Given the description of an element on the screen output the (x, y) to click on. 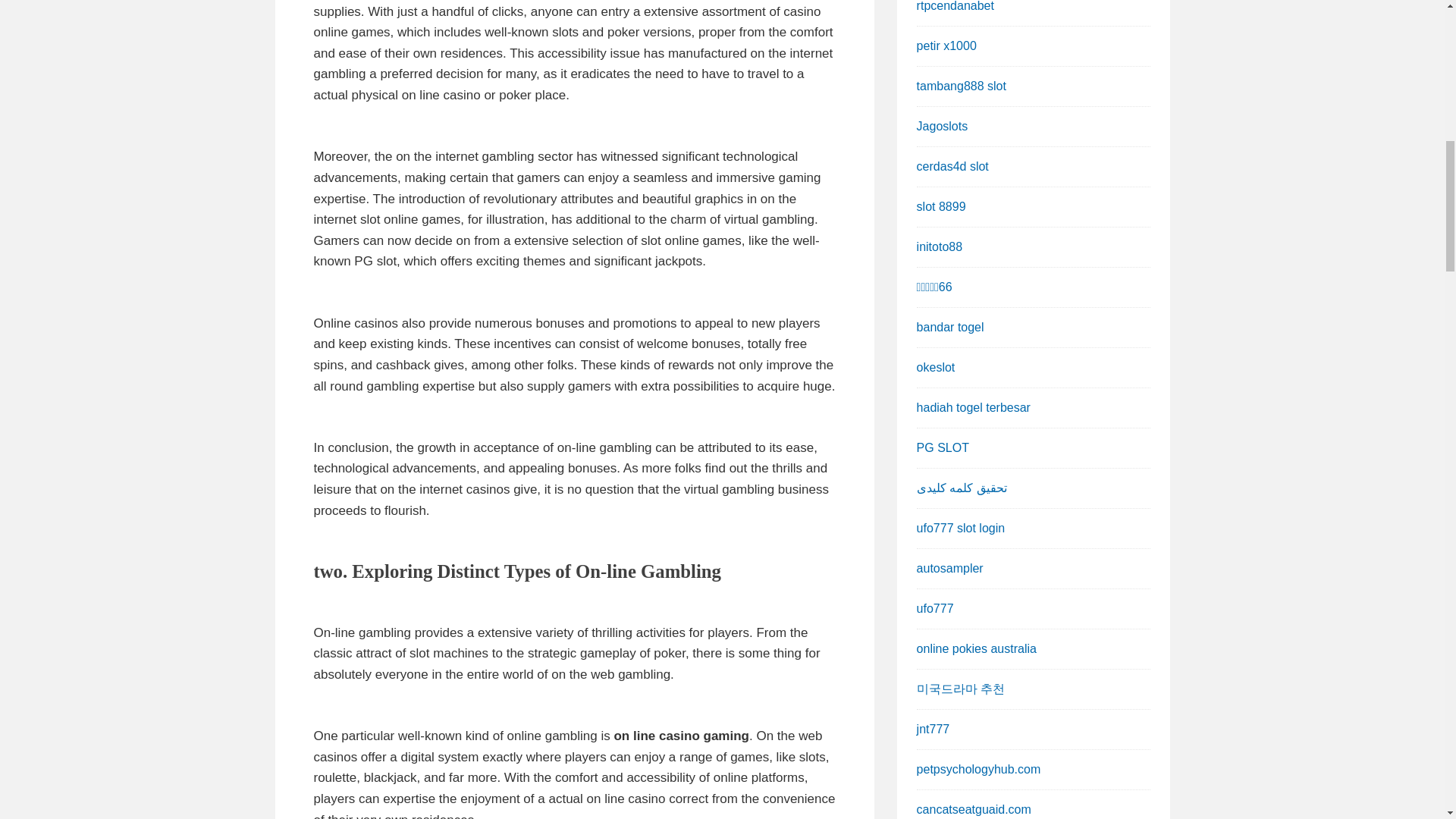
rtpcendanabet (955, 6)
tambang888 slot (961, 85)
petir x1000 (946, 45)
